Given the description of an element on the screen output the (x, y) to click on. 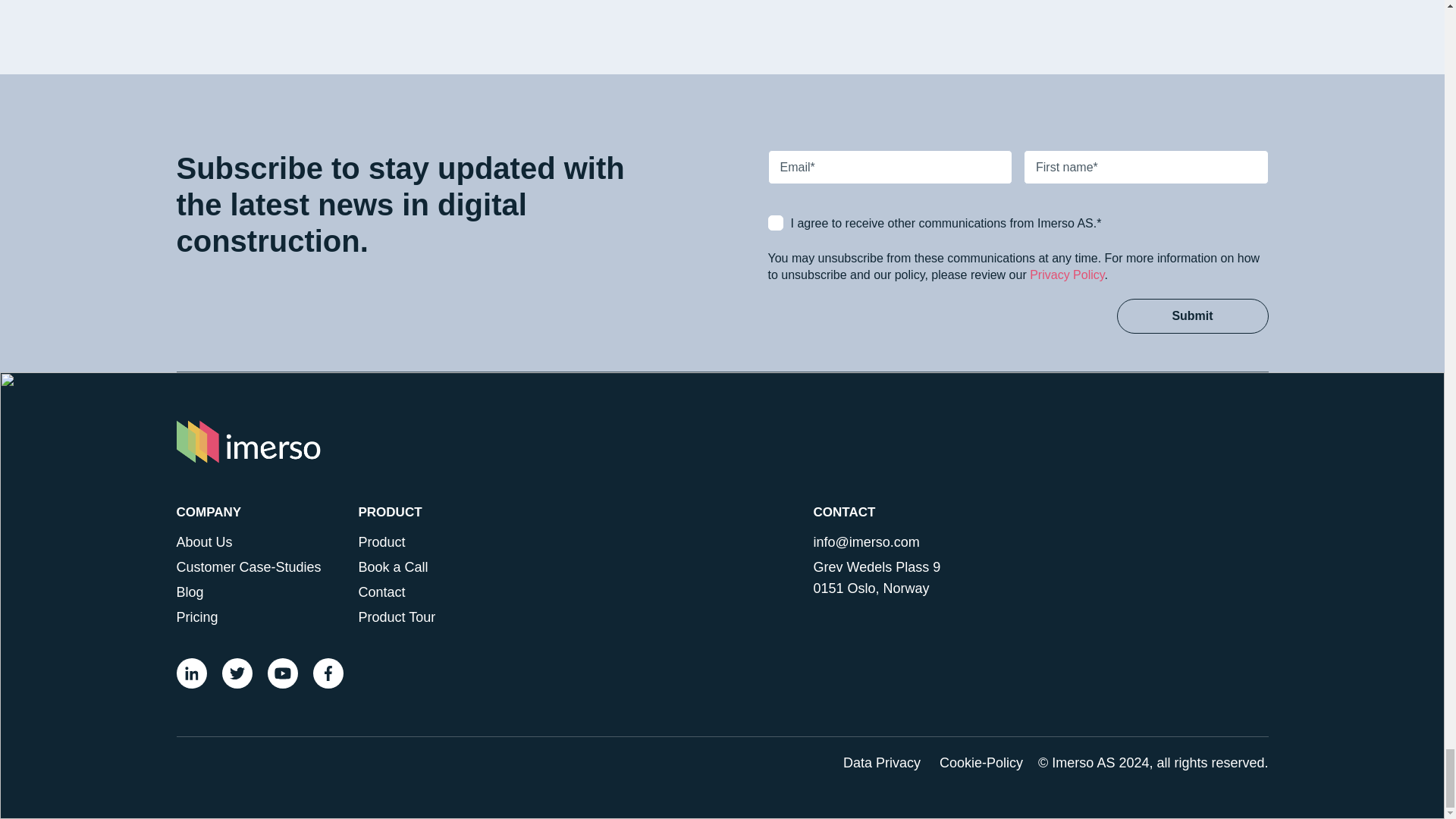
Submit (1192, 315)
